Given the description of an element on the screen output the (x, y) to click on. 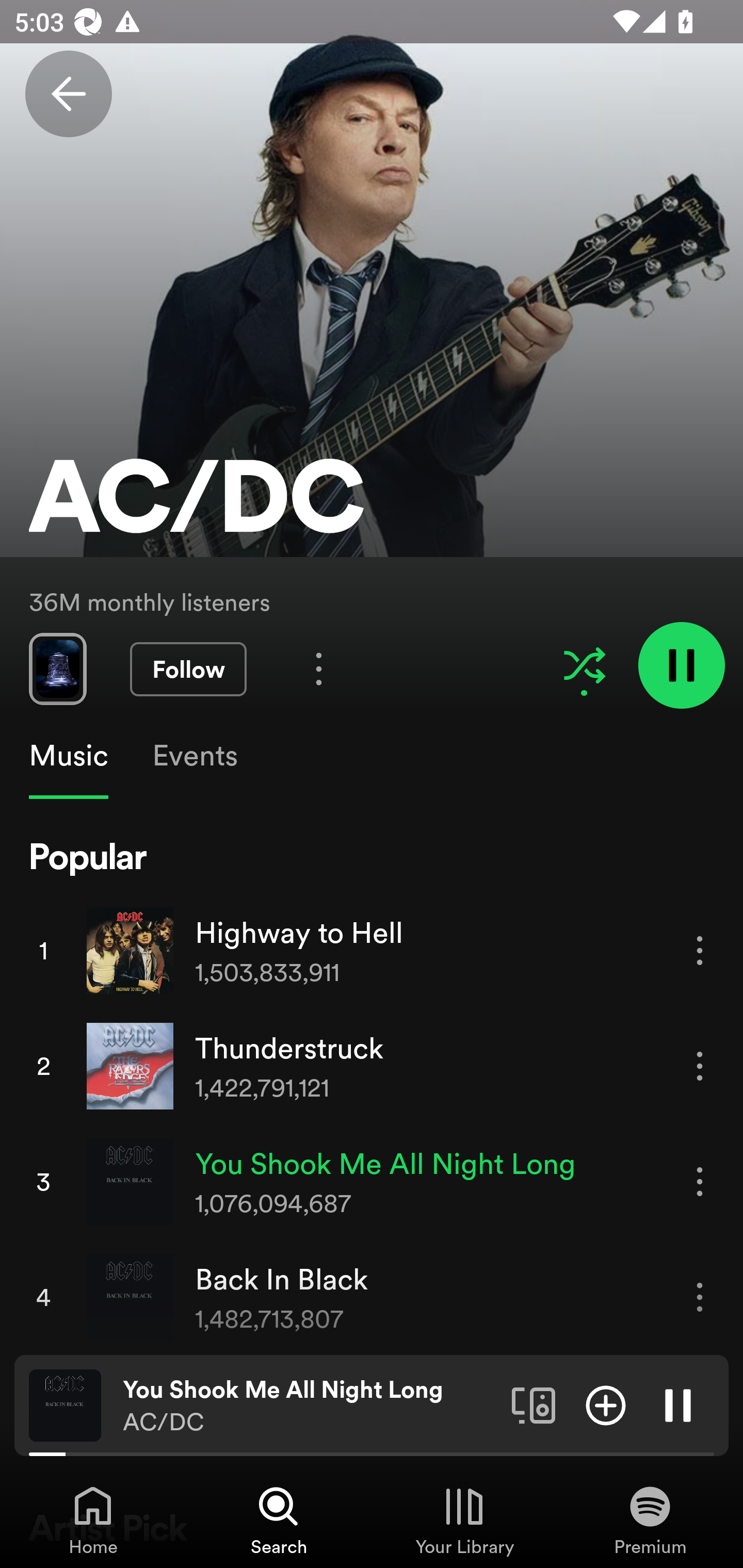
Back (68, 93)
Pause artist (681, 664)
Disable shuffle for this artist (583, 665)
Swipe through previews of tracks from this artist. (57, 668)
More options for artist AC/DC (318, 668)
Follow (188, 669)
Events (194, 755)
More options for song Highway to Hell (699, 950)
More options for song Thunderstruck (699, 1066)
More options for song You Shook Me All Night Long (699, 1181)
More options for song Back In Black (699, 1297)
You Shook Me All Night Long AC/DC (309, 1405)
The cover art of the currently playing track (64, 1404)
Connect to a device. Opens the devices menu (533, 1404)
Add item (605, 1404)
Pause (677, 1404)
Home, Tab 1 of 4 Home Home (92, 1519)
Search, Tab 2 of 4 Search Search (278, 1519)
Your Library, Tab 3 of 4 Your Library Your Library (464, 1519)
Premium, Tab 4 of 4 Premium Premium (650, 1519)
